Given the description of an element on the screen output the (x, y) to click on. 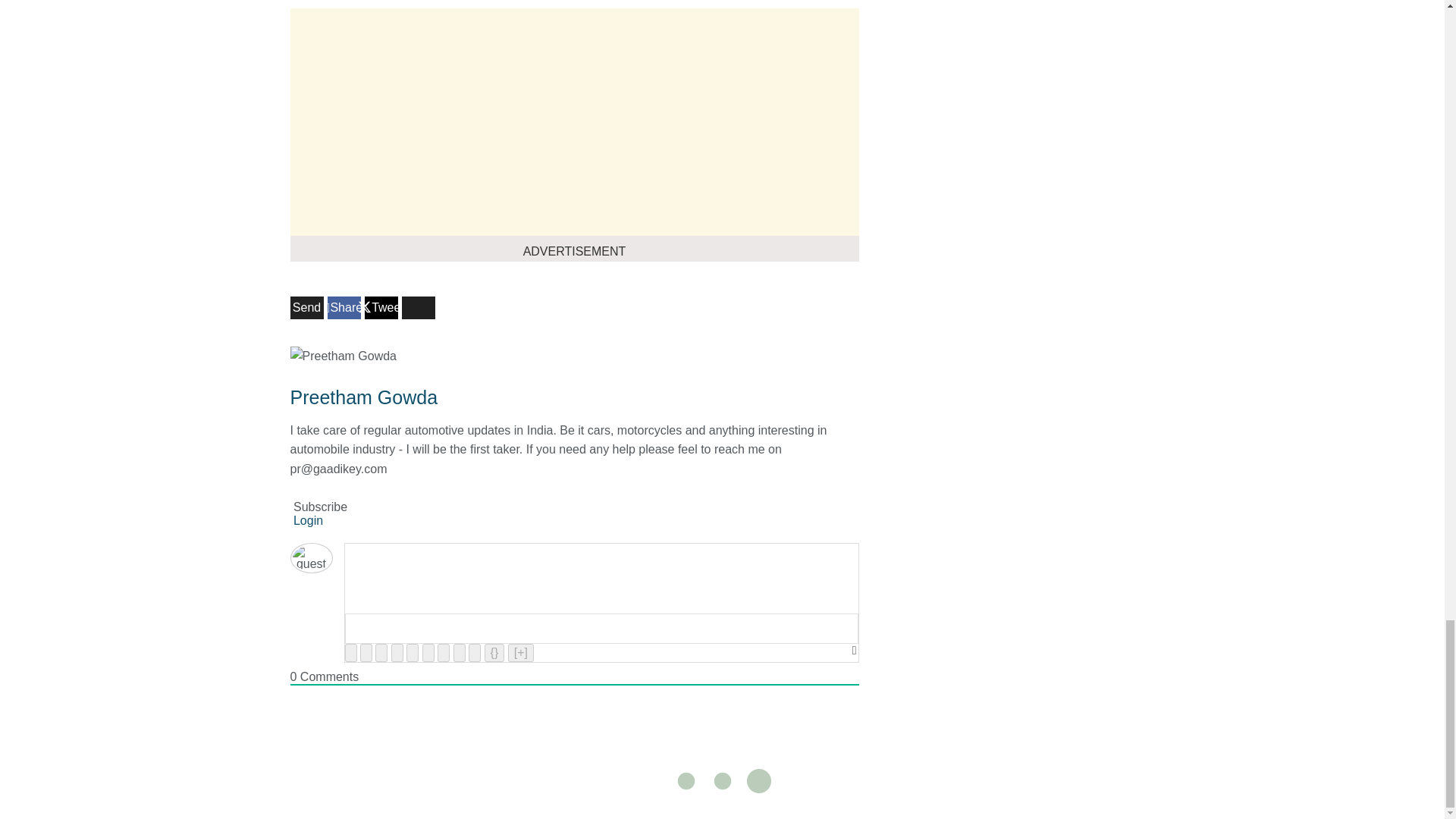
Source Code (494, 652)
Spoiler (521, 652)
